Given the description of an element on the screen output the (x, y) to click on. 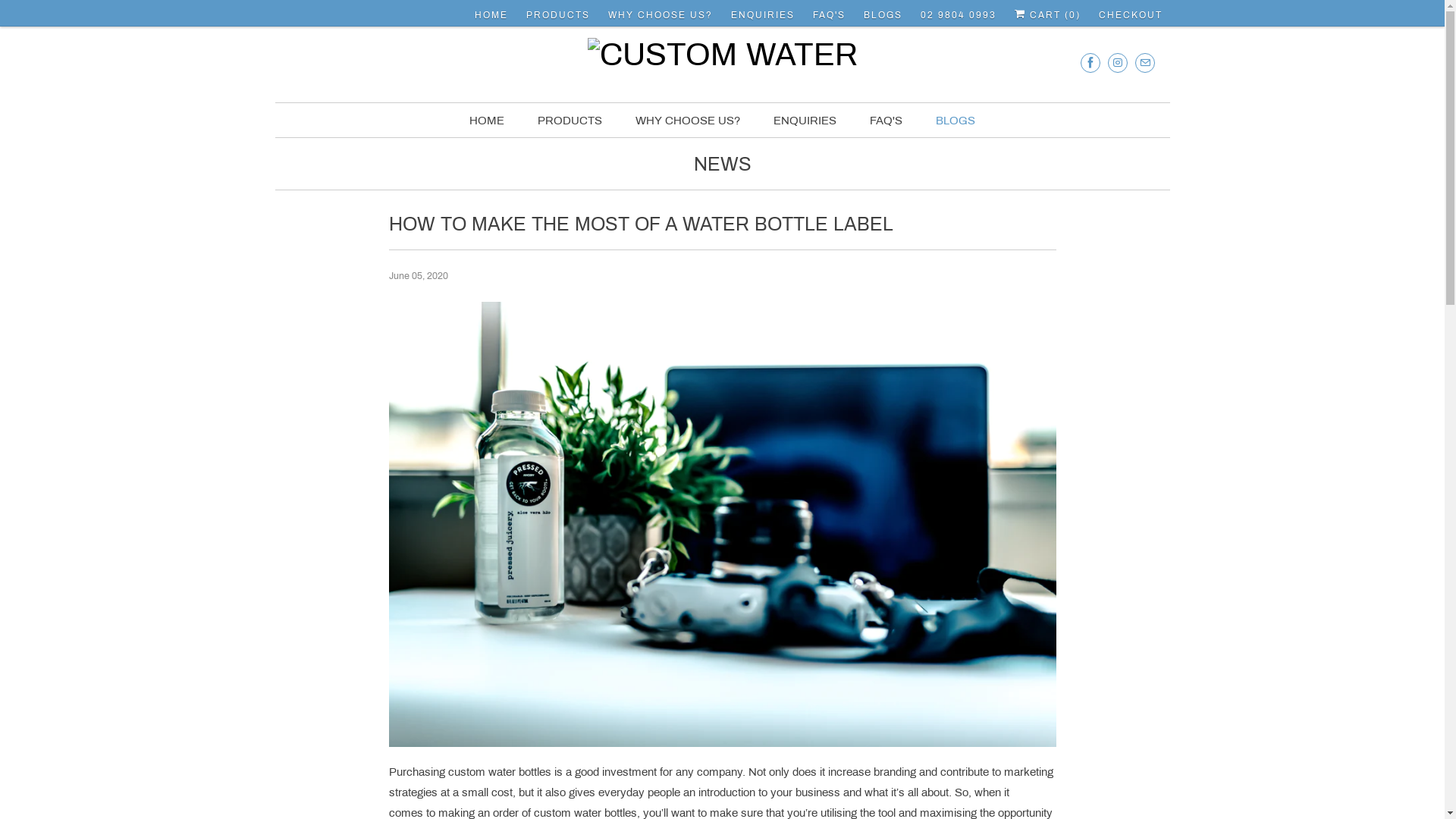
Email Custom Water  Element type: hover (1144, 62)
WHY CHOOSE US? Element type: text (660, 14)
CART (0) Element type: text (1047, 14)
NEWS Element type: text (721, 167)
FAQ'S Element type: text (828, 14)
Custom Water  Element type: hover (721, 58)
ENQUIRIES Element type: text (804, 120)
PRODUCTS Element type: text (557, 14)
Custom Water  on Instagram Element type: hover (1116, 62)
BLOGS Element type: text (955, 120)
WHY CHOOSE US? Element type: text (687, 120)
02 9804 0993 Element type: text (958, 14)
FAQ'S Element type: text (885, 120)
BLOGS Element type: text (881, 14)
ENQUIRIES Element type: text (762, 14)
HOME Element type: text (491, 14)
HOME Element type: text (486, 120)
Custom Water  on Facebook Element type: hover (1089, 62)
CHECKOUT Element type: text (1129, 14)
PRODUCTS Element type: text (569, 120)
